Given the description of an element on the screen output the (x, y) to click on. 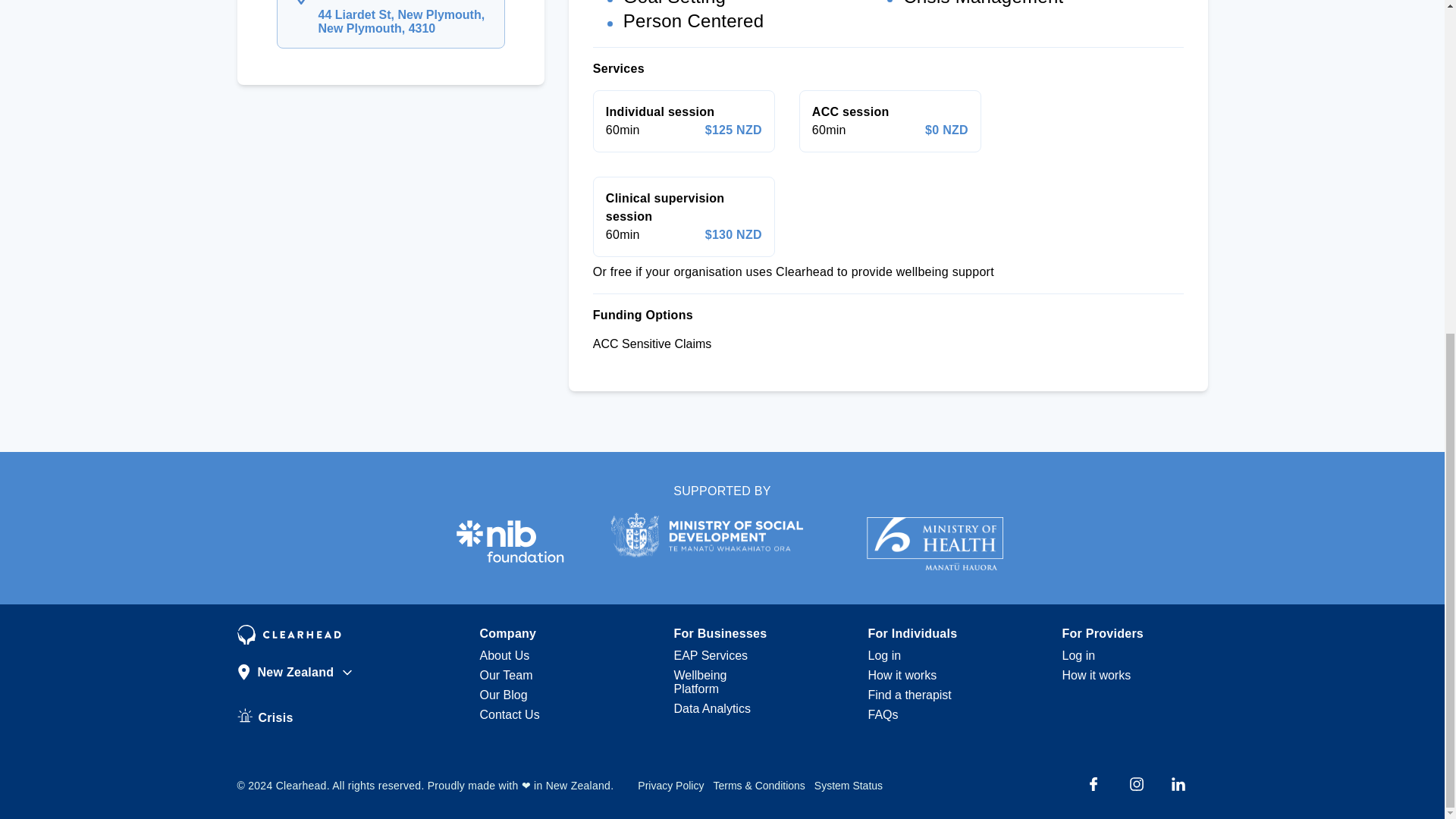
44 Liardet St, New Plymouth, New Plymouth, 4310 (405, 22)
